Given the description of an element on the screen output the (x, y) to click on. 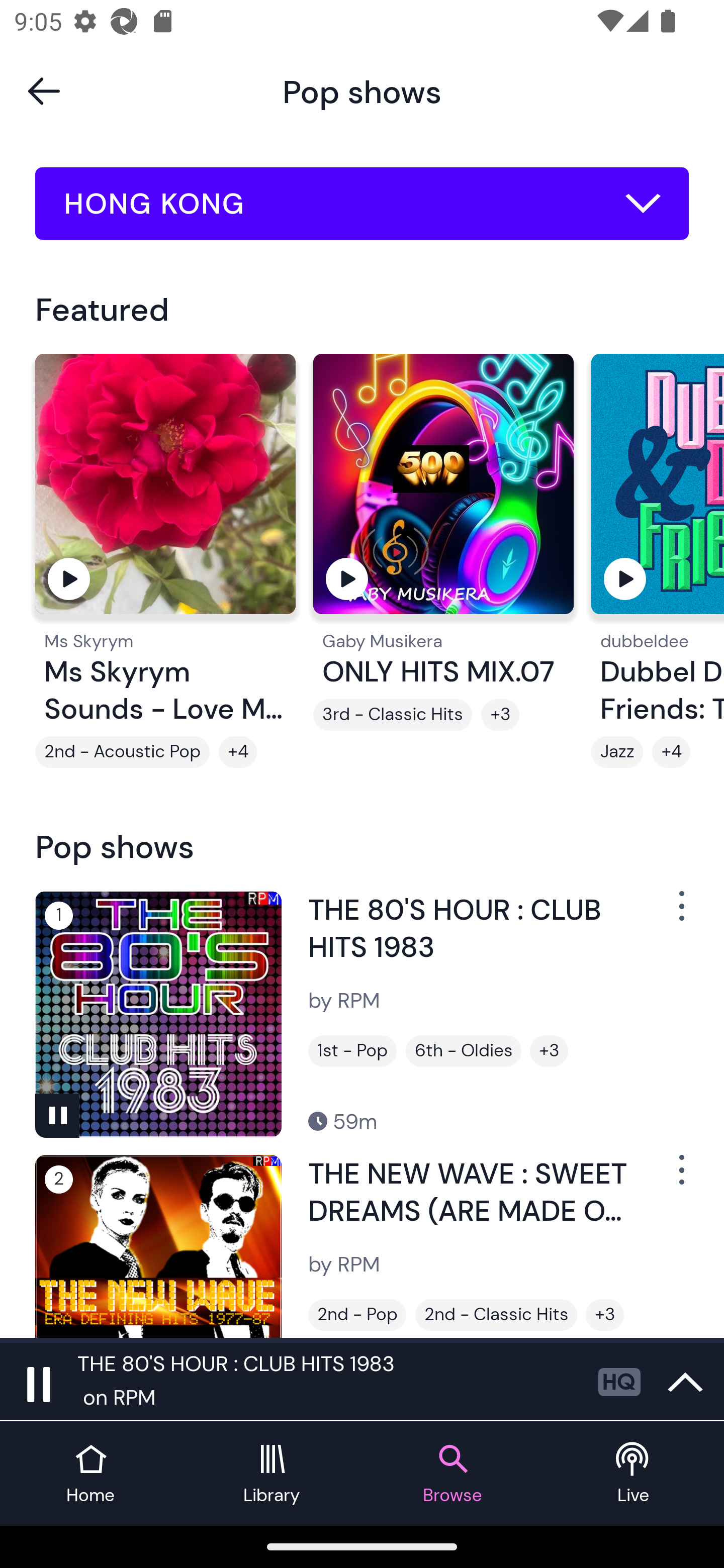
HONG KONG (361, 203)
3rd - Classic Hits (392, 714)
2nd - Acoustic Pop (122, 752)
Jazz (616, 752)
Show Options Menu Button (679, 913)
1st - Pop (352, 1050)
6th - Oldies (463, 1050)
Show Options Menu Button (679, 1178)
2nd - Pop (357, 1315)
2nd - Classic Hits (496, 1315)
Home tab Home (90, 1473)
Library tab Library (271, 1473)
Browse tab Browse (452, 1473)
Live tab Live (633, 1473)
